Given the description of an element on the screen output the (x, y) to click on. 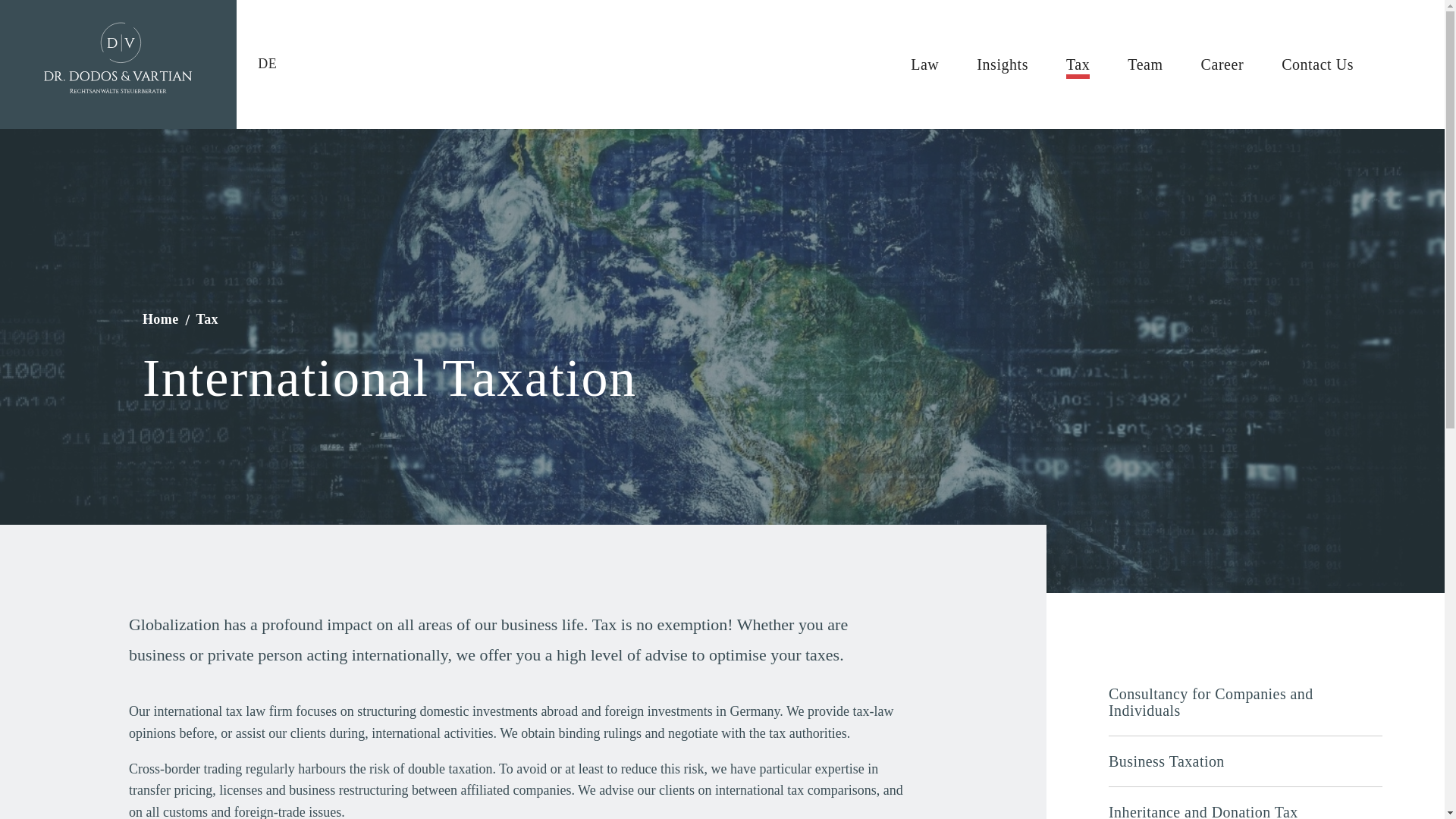
Consultancy for Companies and Individuals (1244, 702)
Insights (1001, 64)
Law (925, 64)
Home (162, 319)
Team (1143, 64)
Career (1222, 64)
Contact Us (1317, 64)
Inheritance and Donation Tax (1244, 811)
Tax (1077, 64)
Business Taxation (1244, 760)
Tax (206, 319)
DE (266, 64)
